Given the description of an element on the screen output the (x, y) to click on. 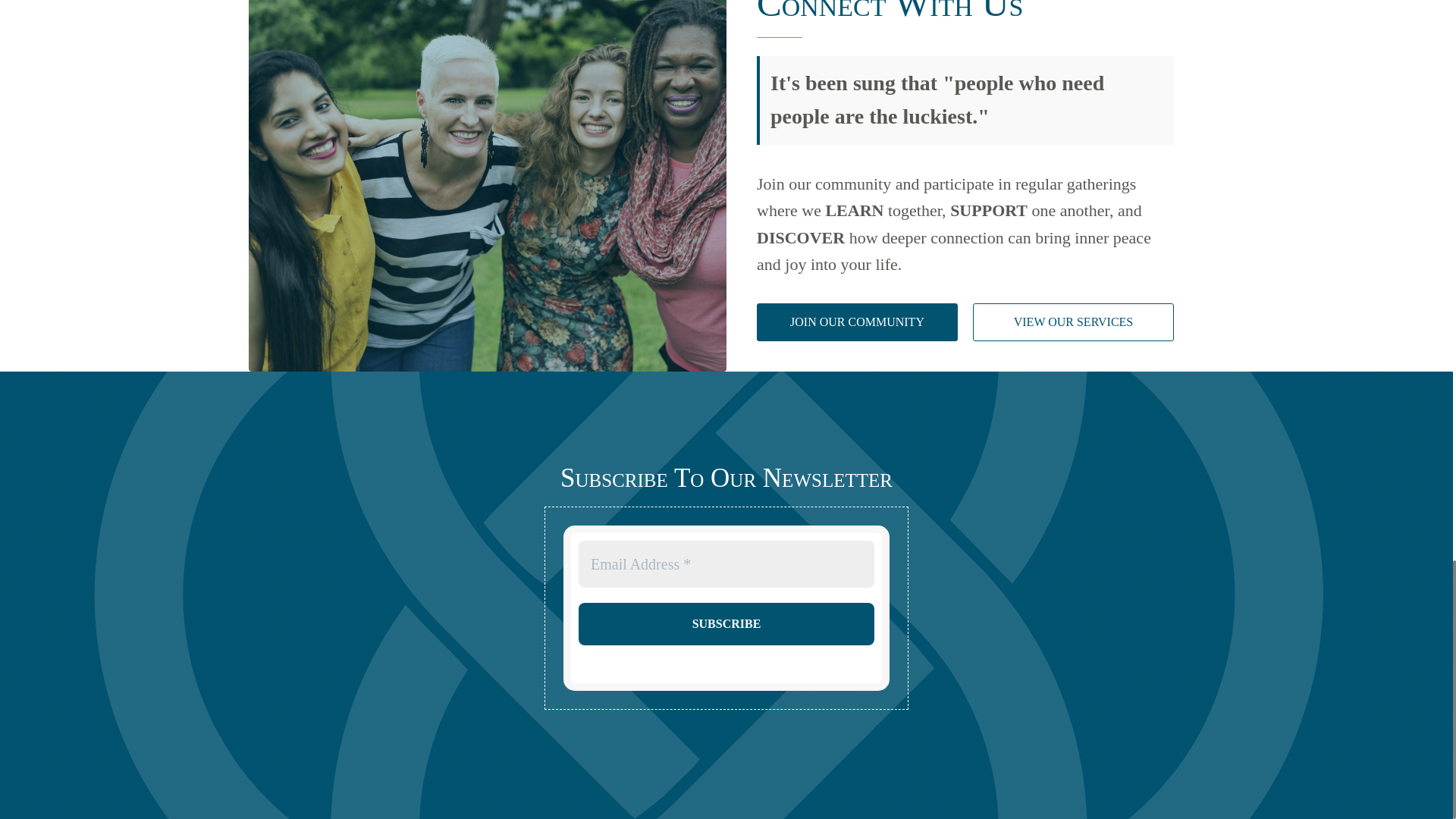
SUBSCRIBE (726, 623)
JOIN OUR COMMUNITY (857, 322)
SUBSCRIBE (726, 623)
VIEW OUR SERVICES (1072, 322)
Email Address (726, 564)
